Given the description of an element on the screen output the (x, y) to click on. 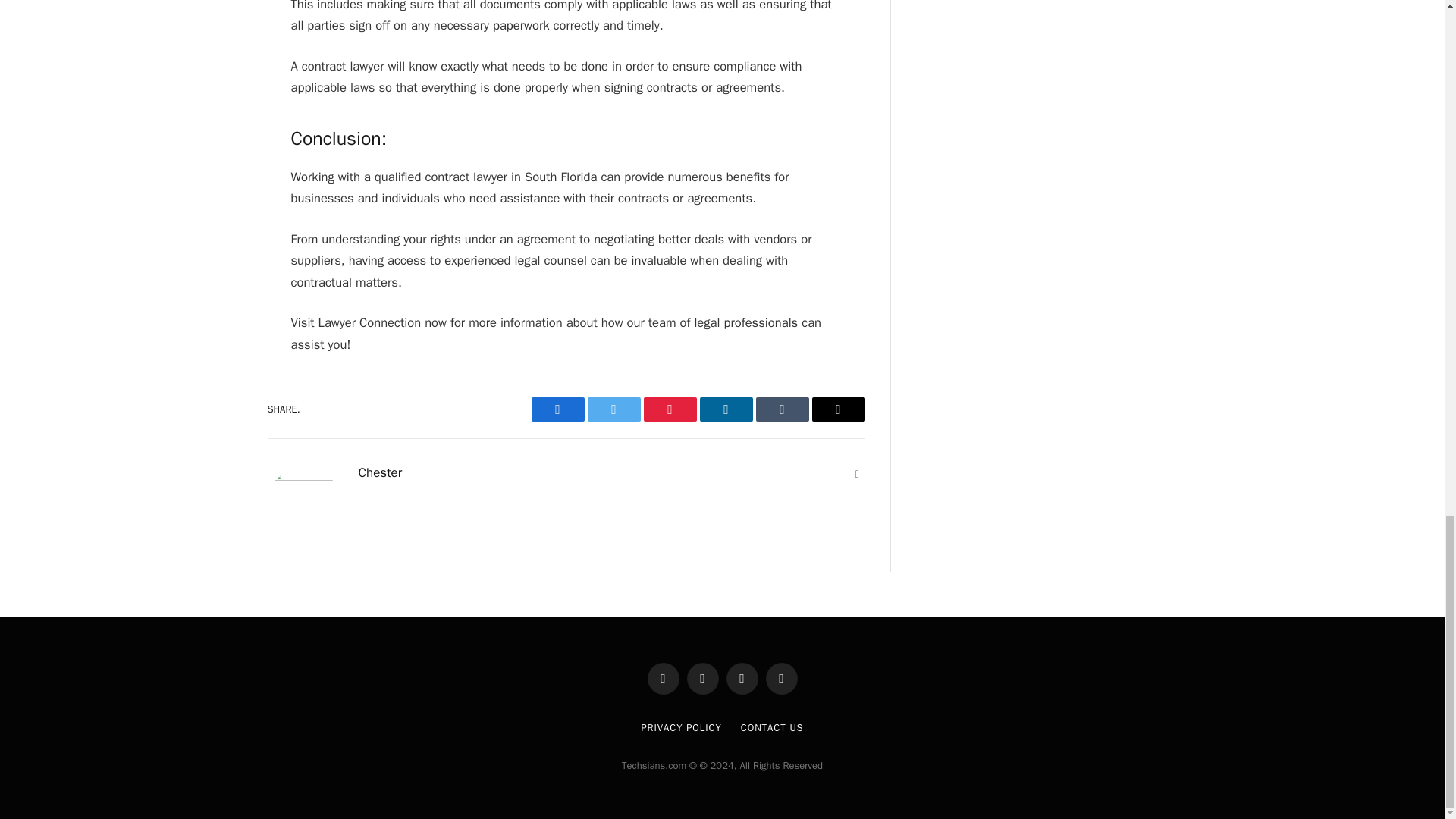
Pinterest (669, 409)
Twitter (613, 409)
Facebook (557, 409)
LinkedIn (725, 409)
